Given the description of an element on the screen output the (x, y) to click on. 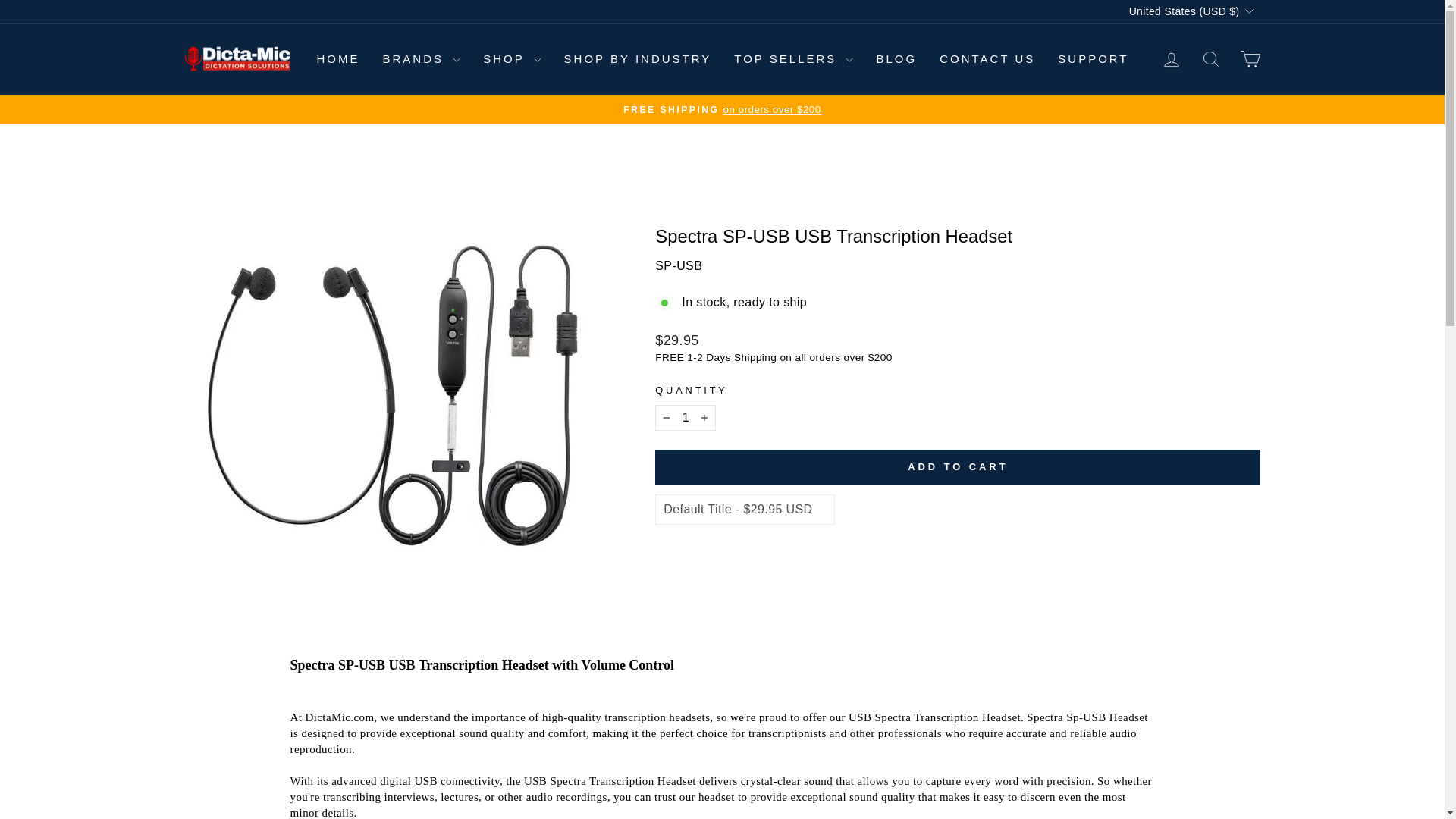
1 (685, 417)
ICON-SEARCH (1210, 58)
ACCOUNT (1170, 59)
